Given the description of an element on the screen output the (x, y) to click on. 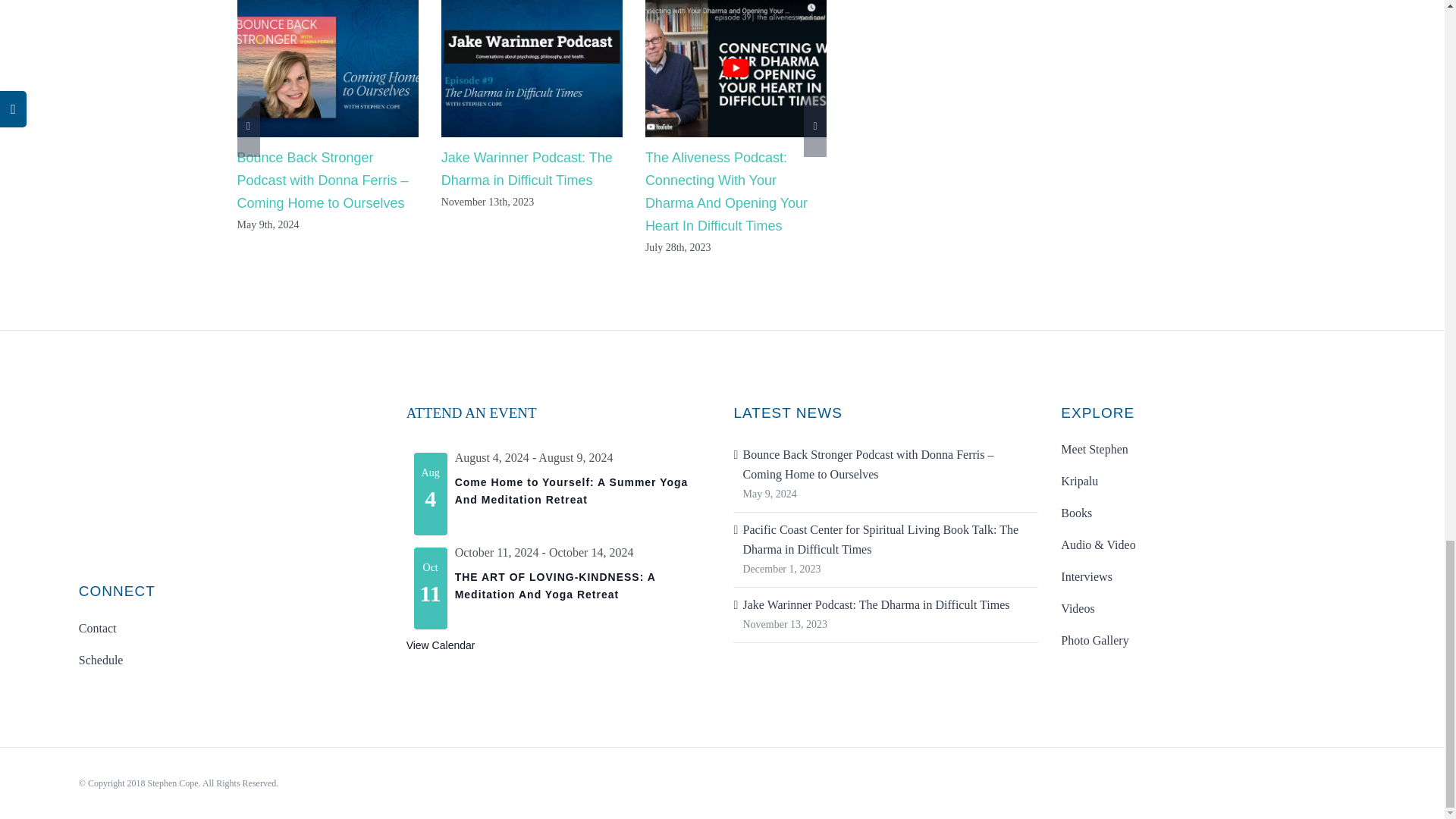
View more events. (441, 645)
Come Home to Yourself: A Summer Yoga And Meditation Retreat (571, 490)
Jake Warinner Podcast: The Dharma in Difficult Times (526, 168)
THE ART OF LOVING-KINDNESS: A Meditation And Yoga Retreat (555, 585)
